Given the description of an element on the screen output the (x, y) to click on. 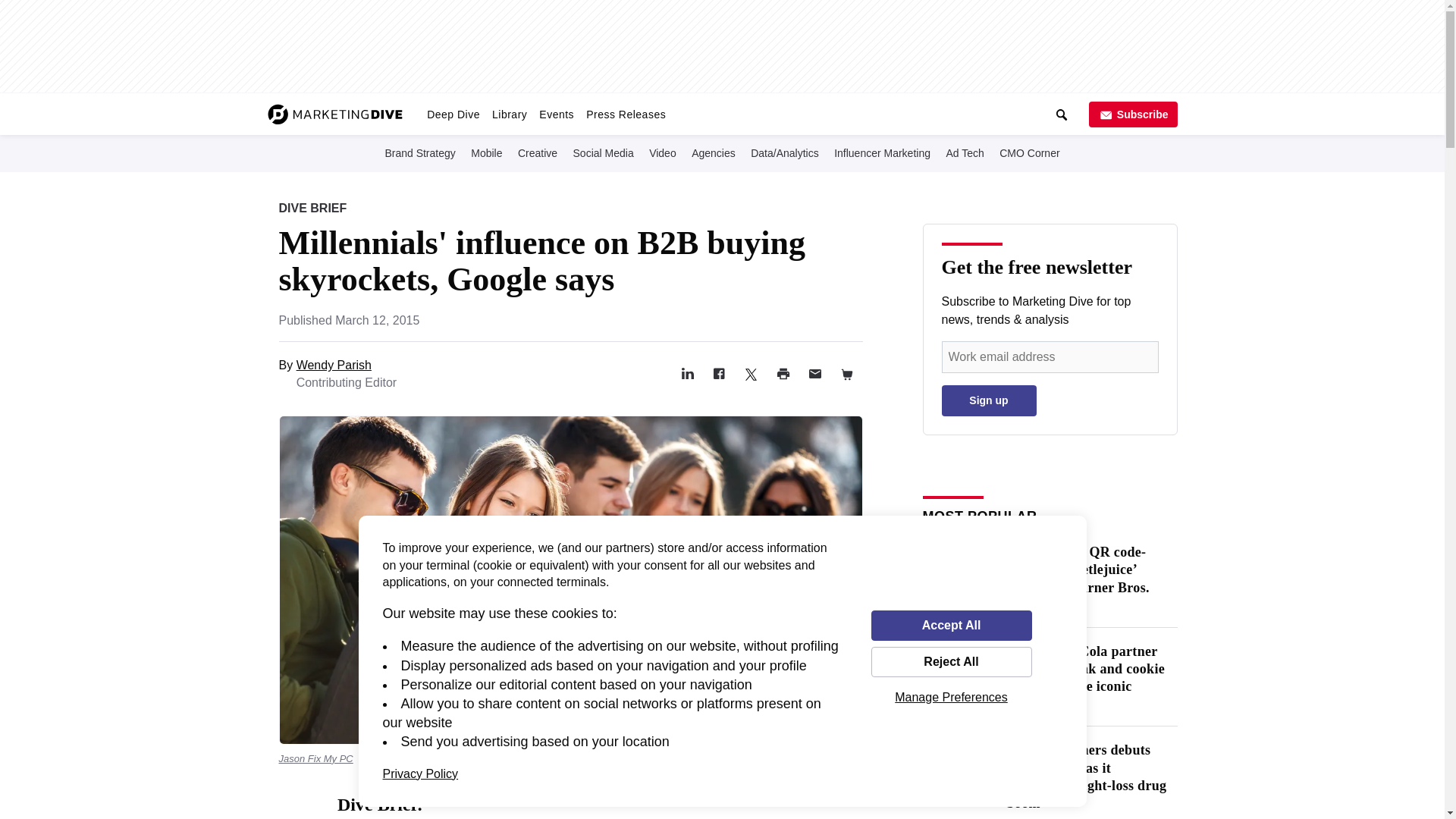
Ad Tech (964, 152)
Press Releases (625, 114)
Privacy Policy (419, 773)
Manage Preferences (950, 697)
Library (509, 114)
Social Media (603, 152)
Subscribe (1132, 114)
Creative (537, 152)
Wendy Parish (334, 364)
Mobile (486, 152)
